Given the description of an element on the screen output the (x, y) to click on. 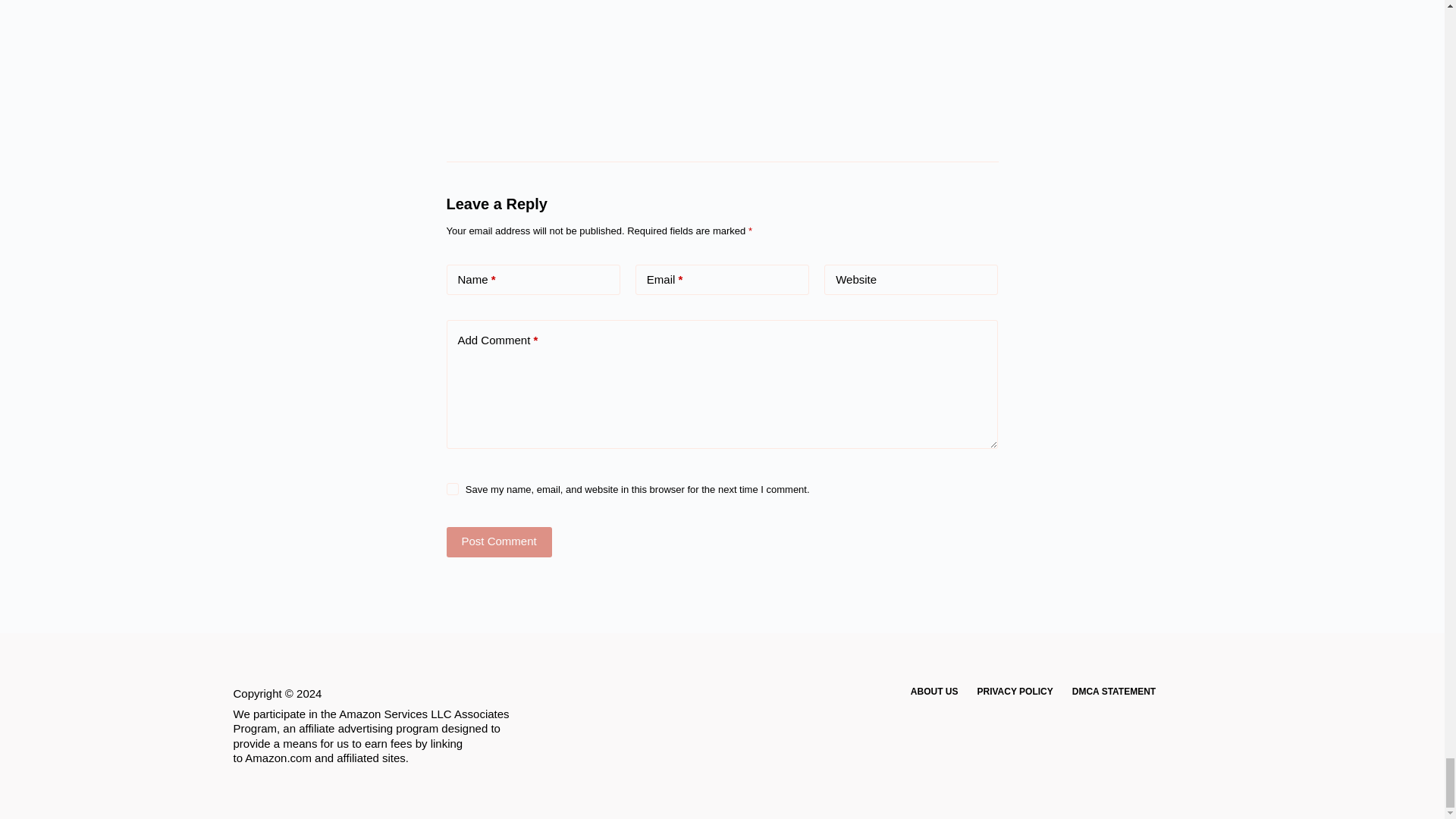
yes (451, 489)
